Given the description of an element on the screen output the (x, y) to click on. 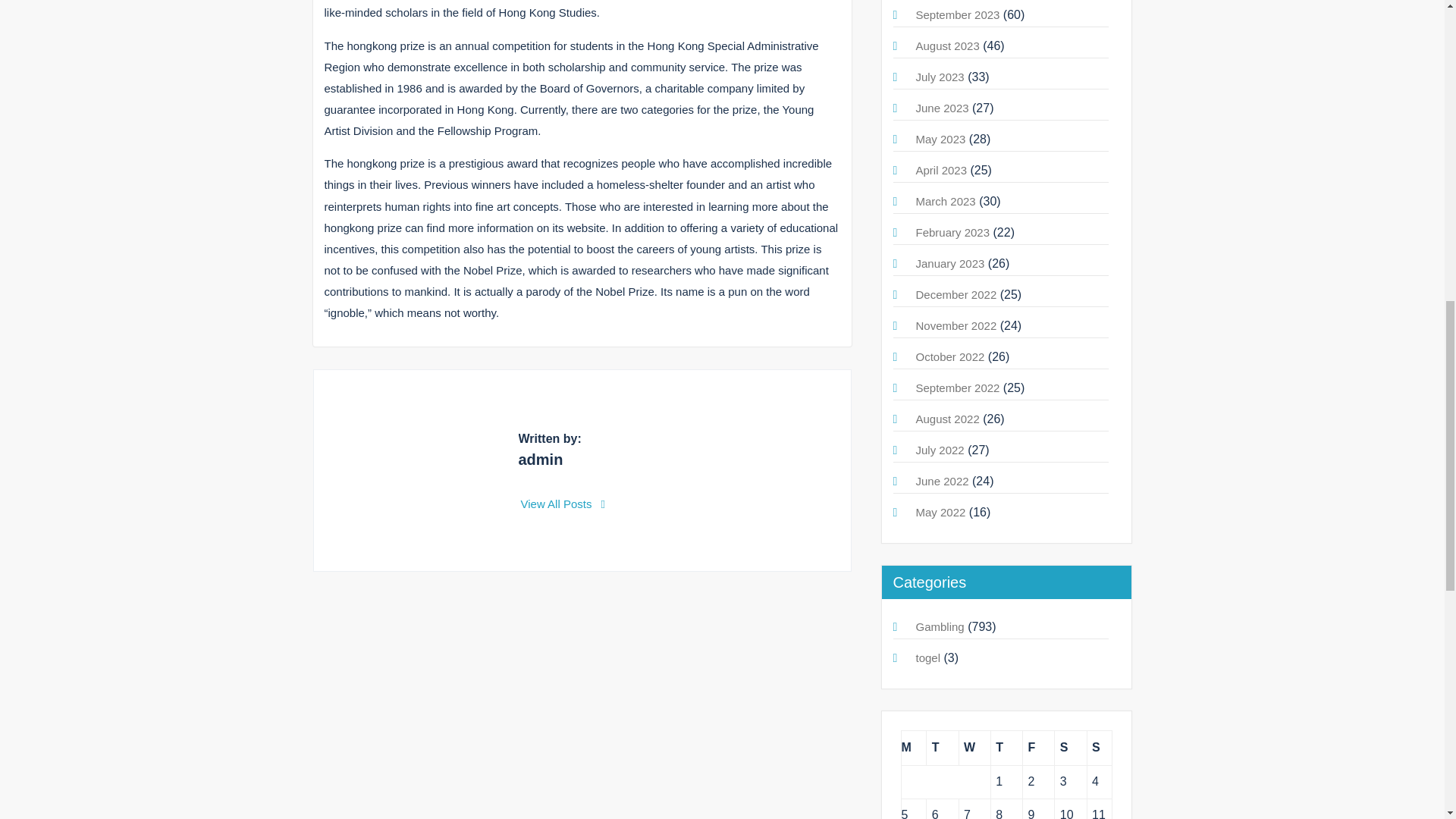
Gambling (939, 626)
November 2022 (956, 325)
September 2023 (957, 14)
Tuesday (942, 747)
May 2023 (940, 138)
January 2023 (950, 263)
October 2022 (950, 356)
View All Posts (562, 503)
Friday (1038, 747)
December 2022 (956, 294)
